Given the description of an element on the screen output the (x, y) to click on. 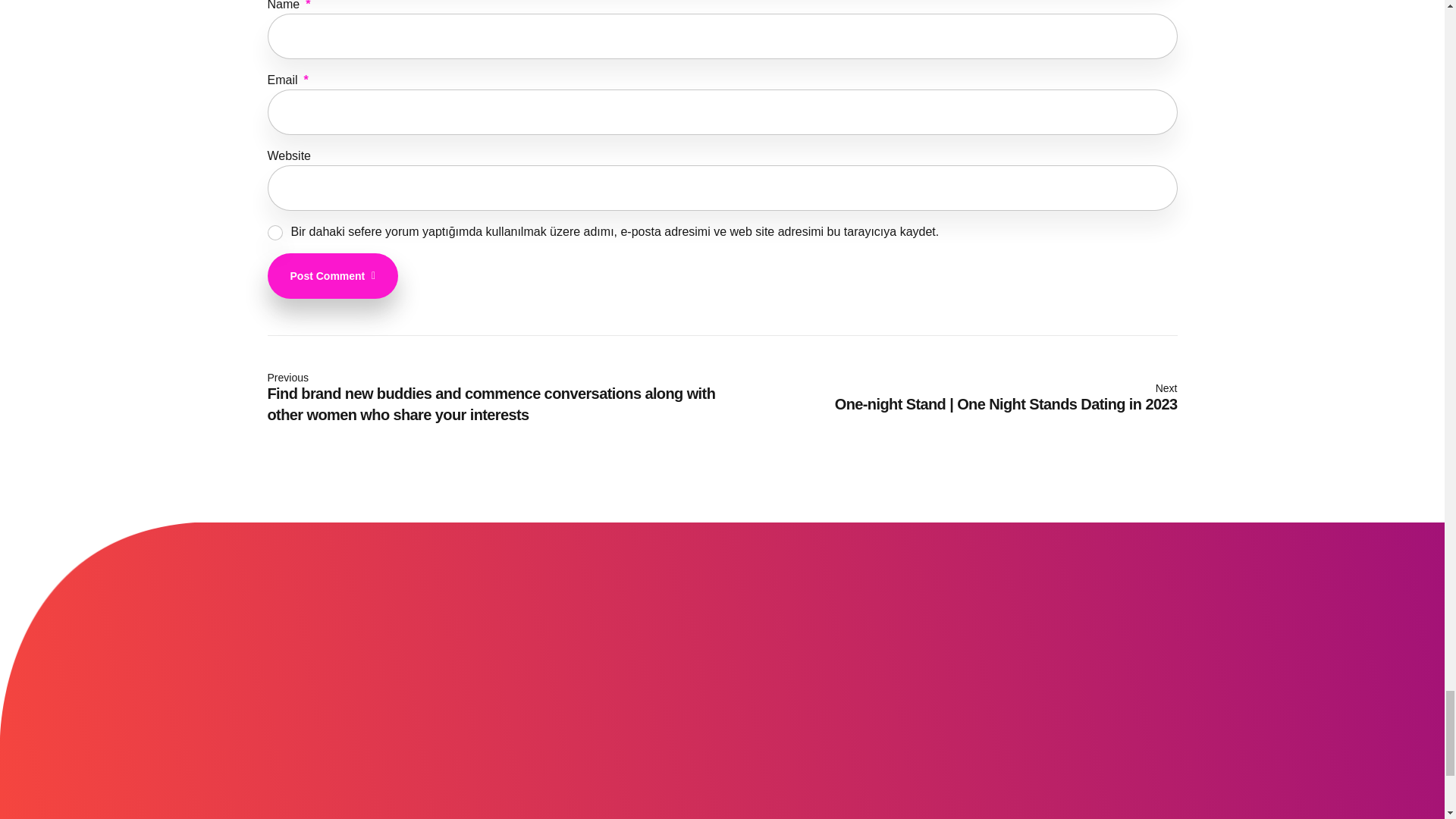
yes (274, 232)
Required field (307, 5)
Required field (306, 79)
Post Comment (331, 275)
